Given the description of an element on the screen output the (x, y) to click on. 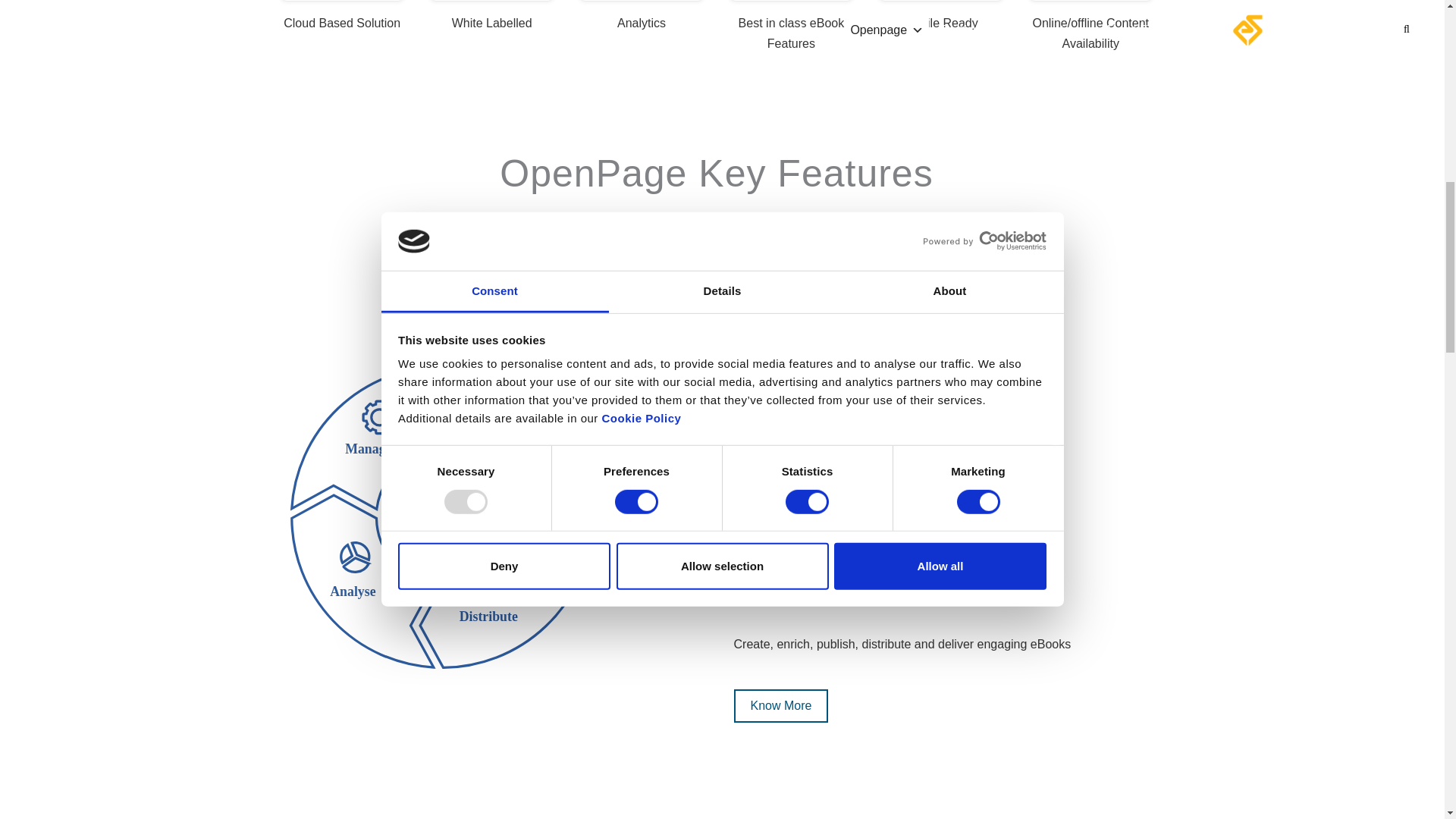
QuickAuthor (780, 705)
